Given the description of an element on the screen output the (x, y) to click on. 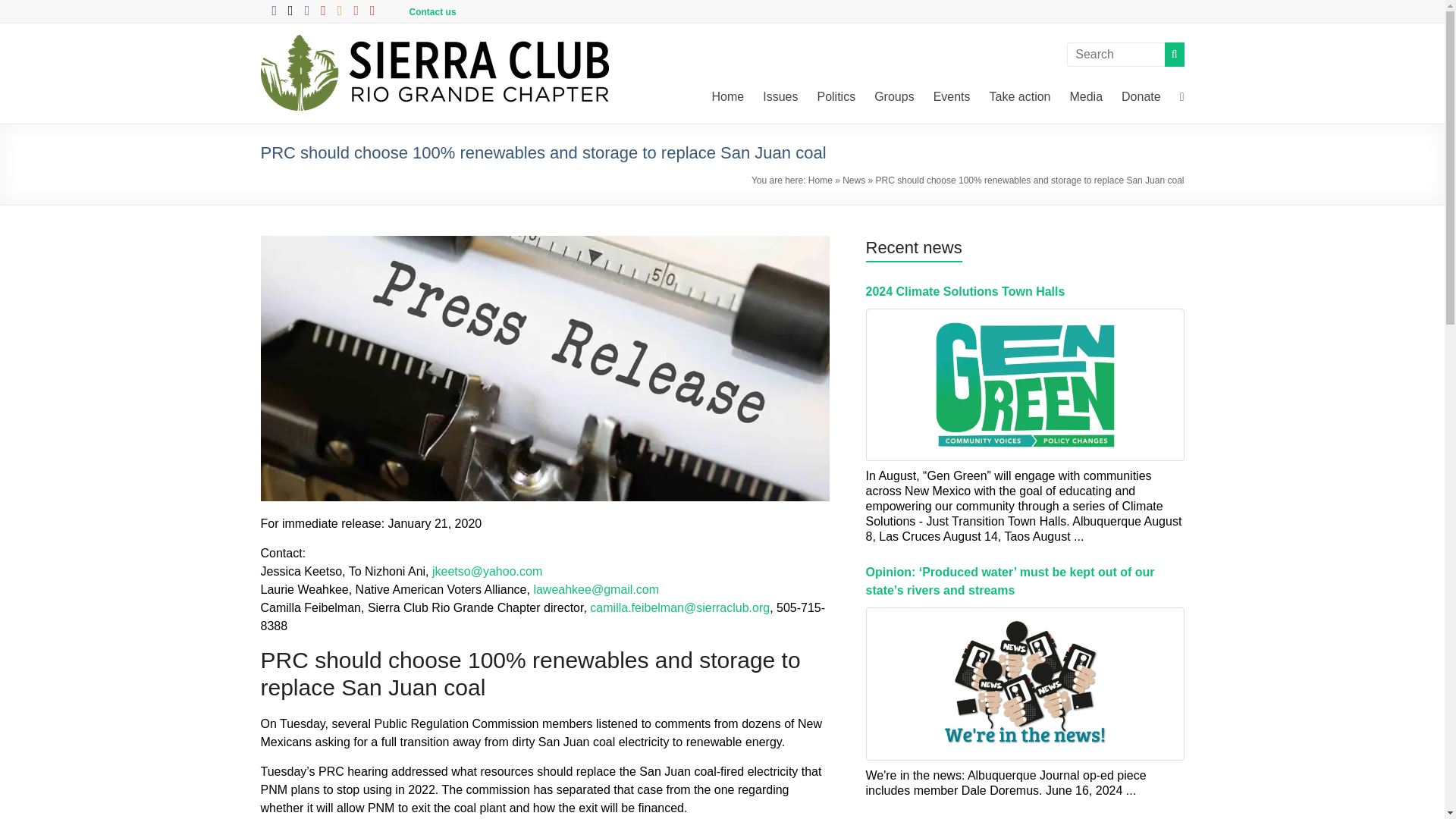
Contact us (433, 11)
Groups (894, 96)
Home (727, 96)
Issues (779, 96)
Rio Grande Chapter (307, 83)
Politics (836, 96)
Rio Grande Chapter (307, 83)
